Given the description of an element on the screen output the (x, y) to click on. 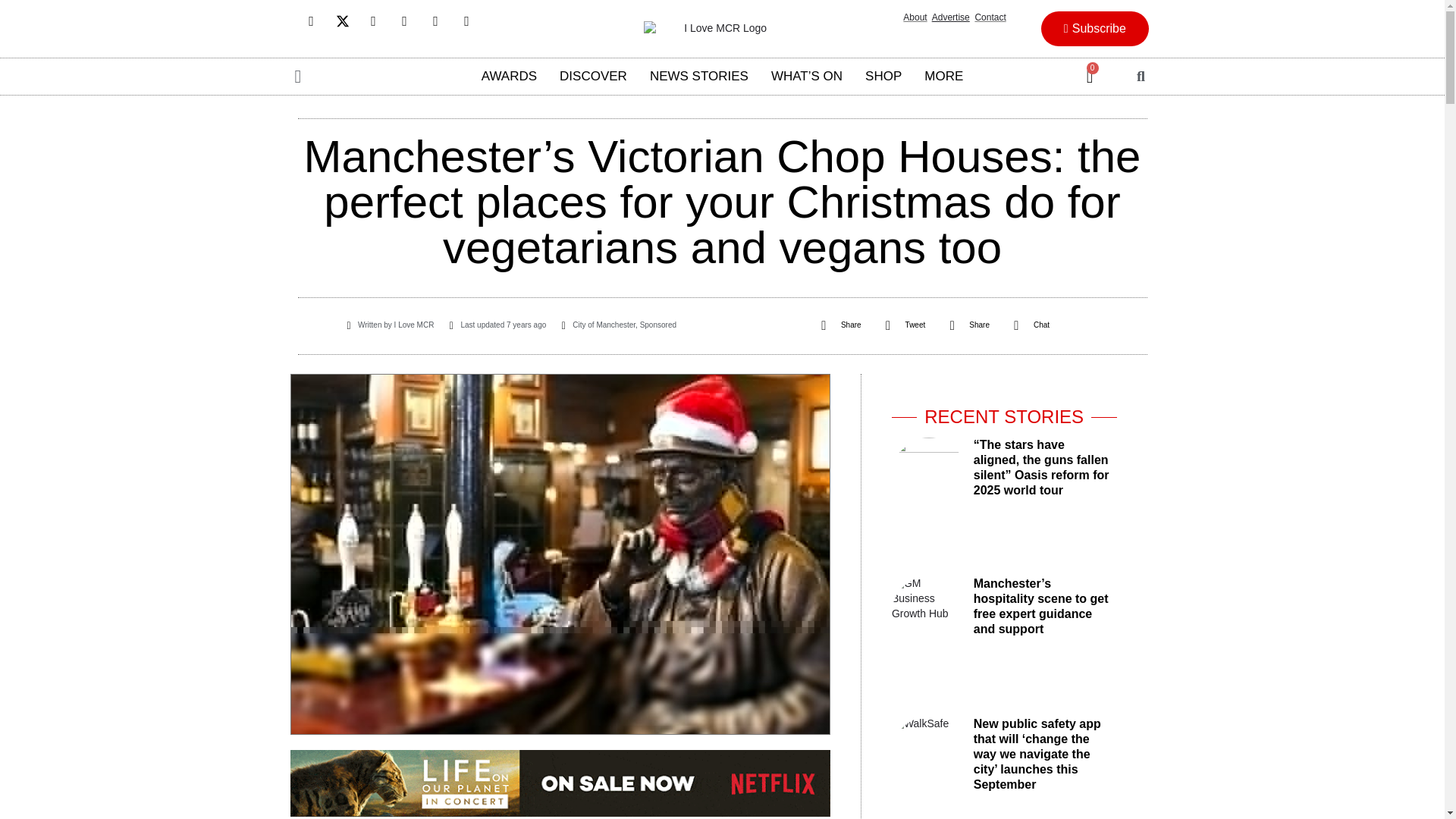
Subscribe (1094, 28)
Contact (990, 17)
About (914, 17)
NEWS STORIES (699, 76)
DISCOVER (593, 76)
Advertise (950, 17)
AWARDS (509, 76)
ilovemcr-website-logo 544 (718, 28)
